Given the description of an element on the screen output the (x, y) to click on. 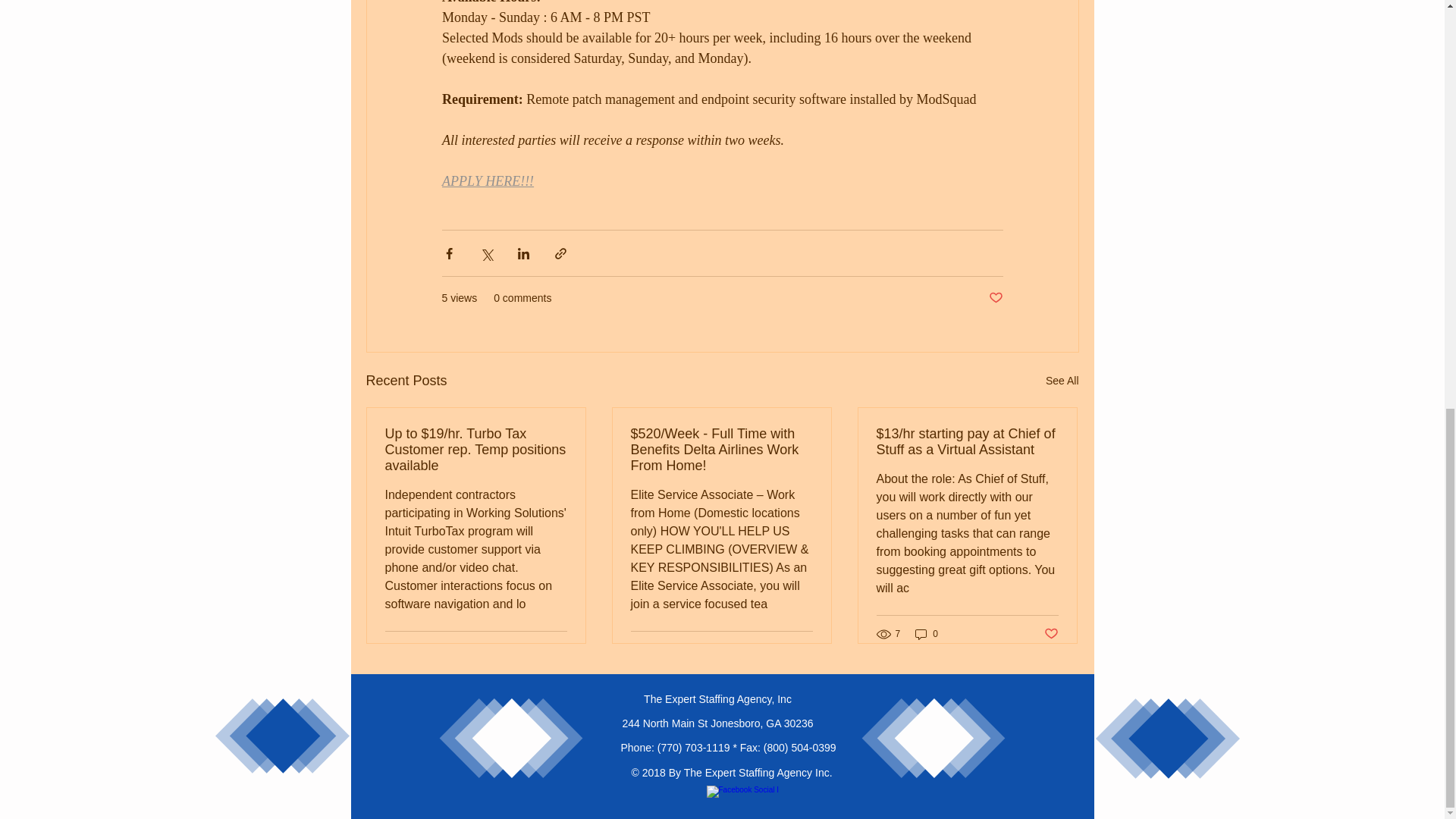
Post not marked as liked (1050, 634)
APPLY HERE!!! (486, 181)
Post not marked as liked (995, 298)
Post not marked as liked (558, 649)
0 (926, 633)
Post not marked as liked (804, 649)
See All (1061, 381)
